Given the description of an element on the screen output the (x, y) to click on. 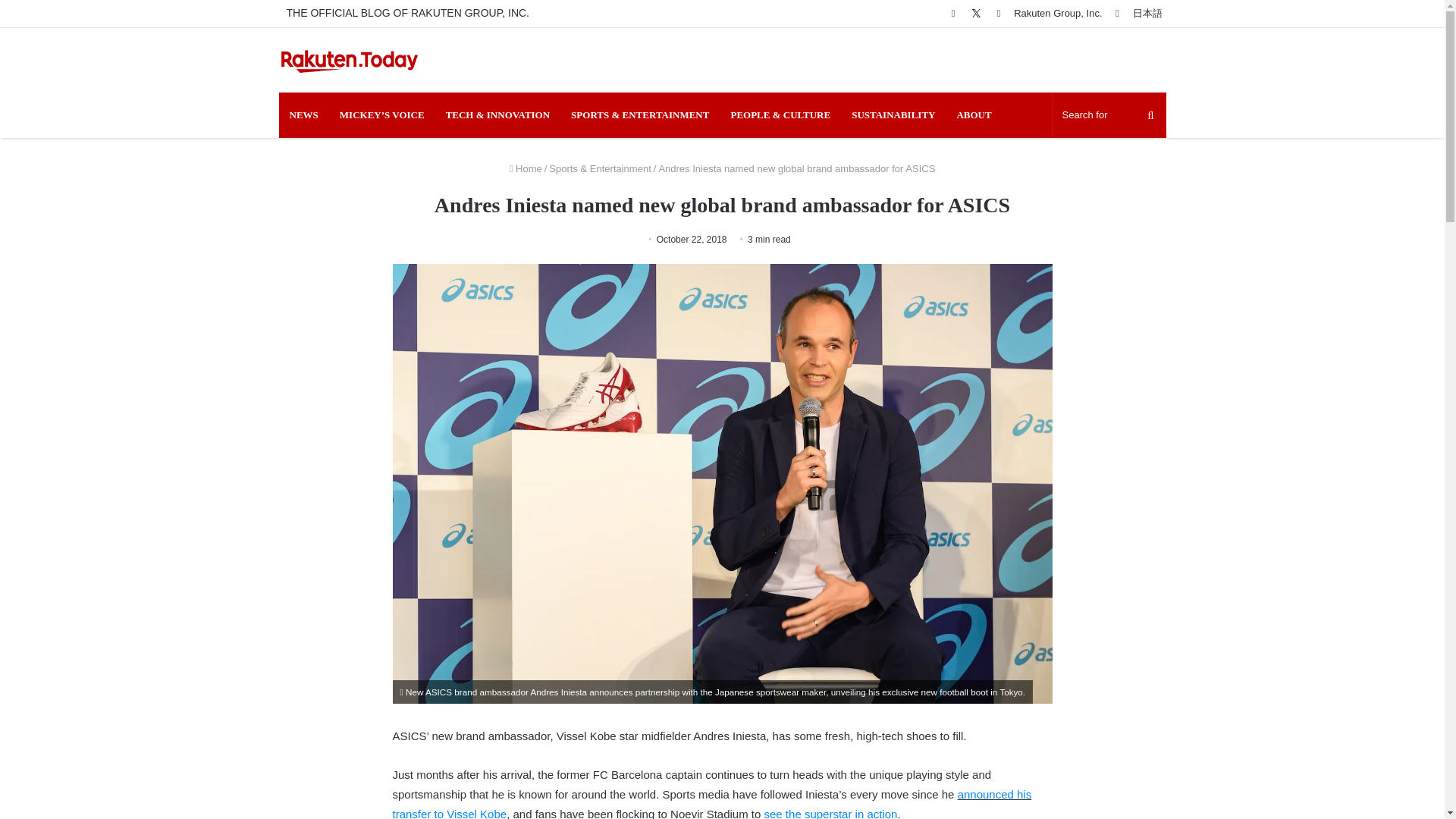
Search for (1109, 115)
THE OFFICIAL BLOG OF RAKUTEN GROUP, INC. (408, 13)
Home (525, 168)
ABOUT (972, 115)
announced his transfer to Vissel Kobe (712, 803)
SUSTAINABILITY (892, 115)
Rakuten Today (349, 59)
Rakuten Group, Inc. (1057, 13)
see the superstar in action (831, 813)
NEWS (304, 115)
